Given the description of an element on the screen output the (x, y) to click on. 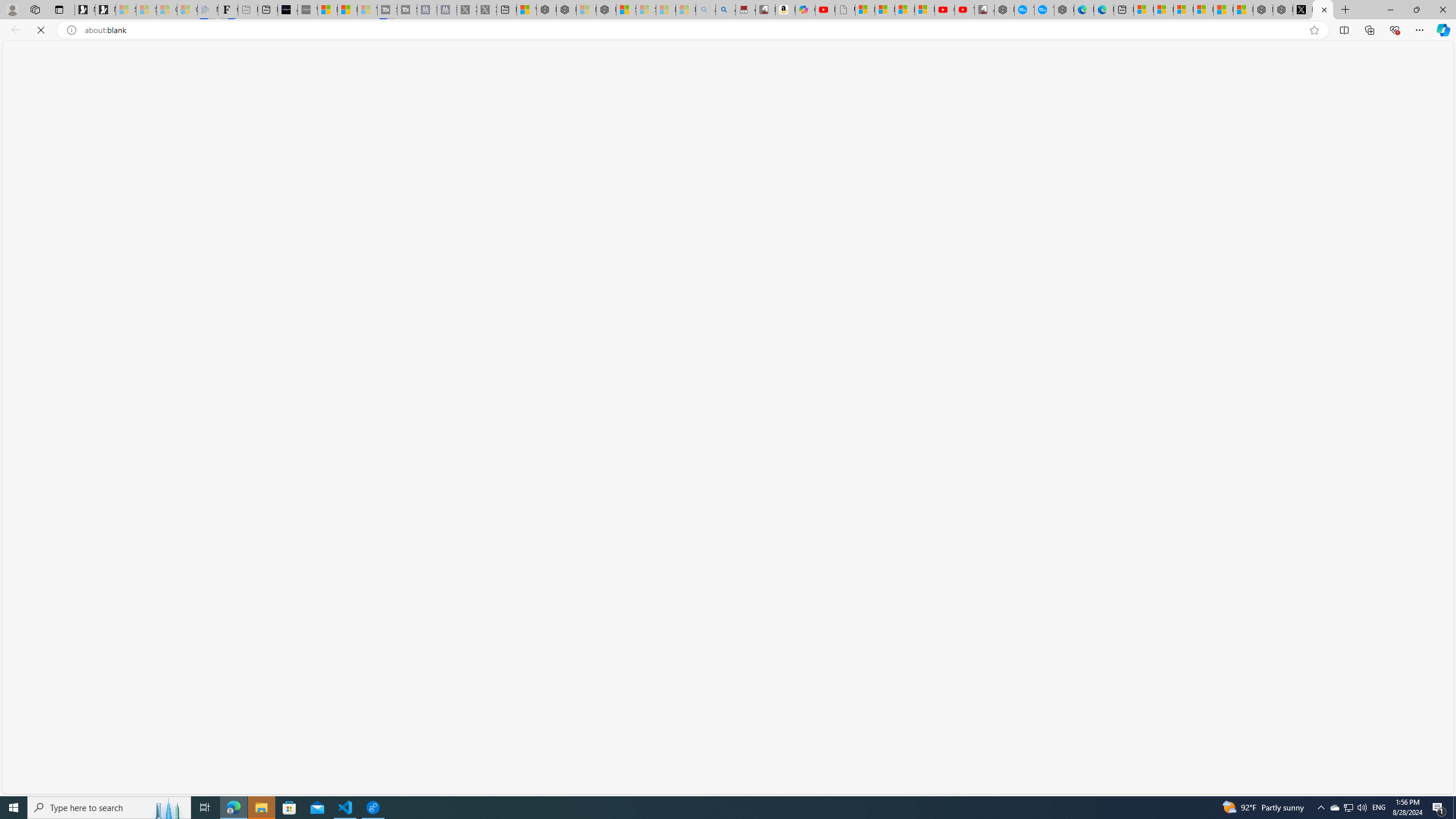
Newsletter Sign Up (105, 9)
Copilot (804, 9)
X - Sleeping (486, 9)
All Cubot phones (983, 9)
amazon - Search - Sleeping (705, 9)
